Given the description of an element on the screen output the (x, y) to click on. 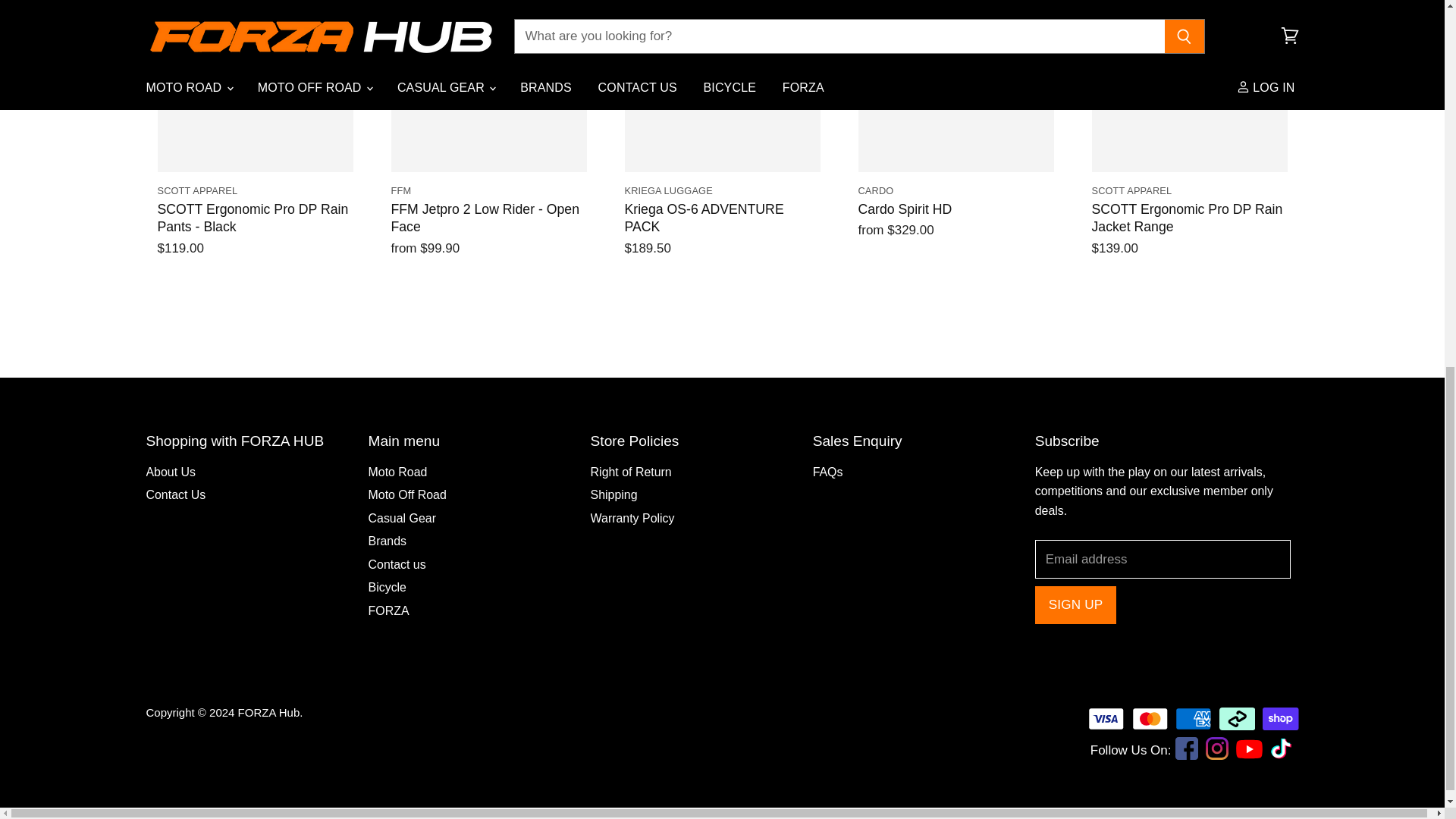
Follow us on Youtube (1251, 760)
Follow us on Facebook (1186, 751)
Follow us on TikTok (1286, 754)
Follow us on Instagram (1216, 751)
